Given the description of an element on the screen output the (x, y) to click on. 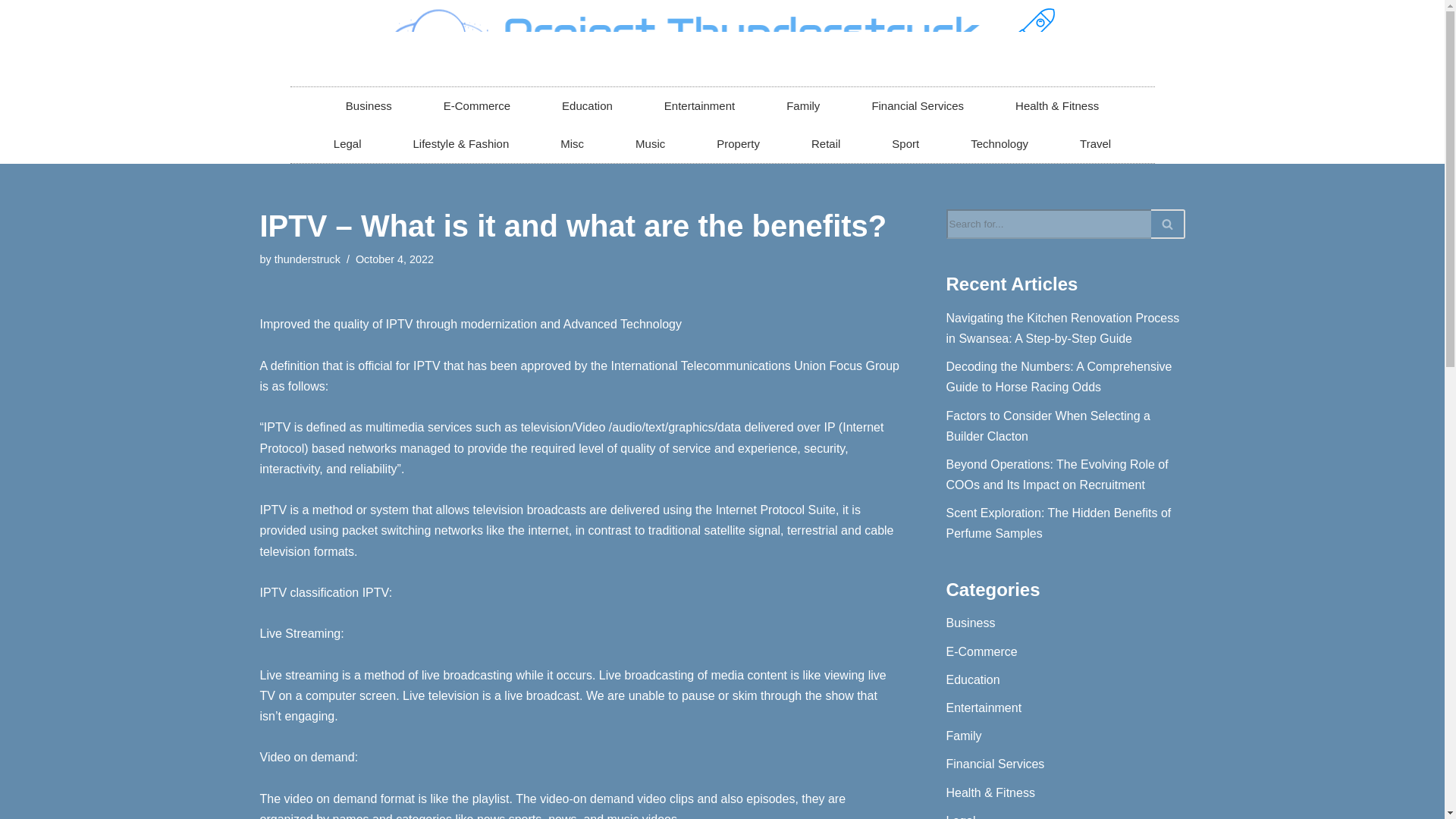
Business (368, 105)
Music (650, 143)
Entertainment (699, 105)
Legal (347, 143)
Factors to Consider When Selecting a Builder Clacton (1048, 426)
Property (738, 143)
Family (802, 105)
Misc (572, 143)
Posts by thunderstruck (307, 259)
Financial Services (917, 105)
E-Commerce (476, 105)
thunderstruck (307, 259)
Sport (905, 143)
Skip to content (11, 31)
